Given the description of an element on the screen output the (x, y) to click on. 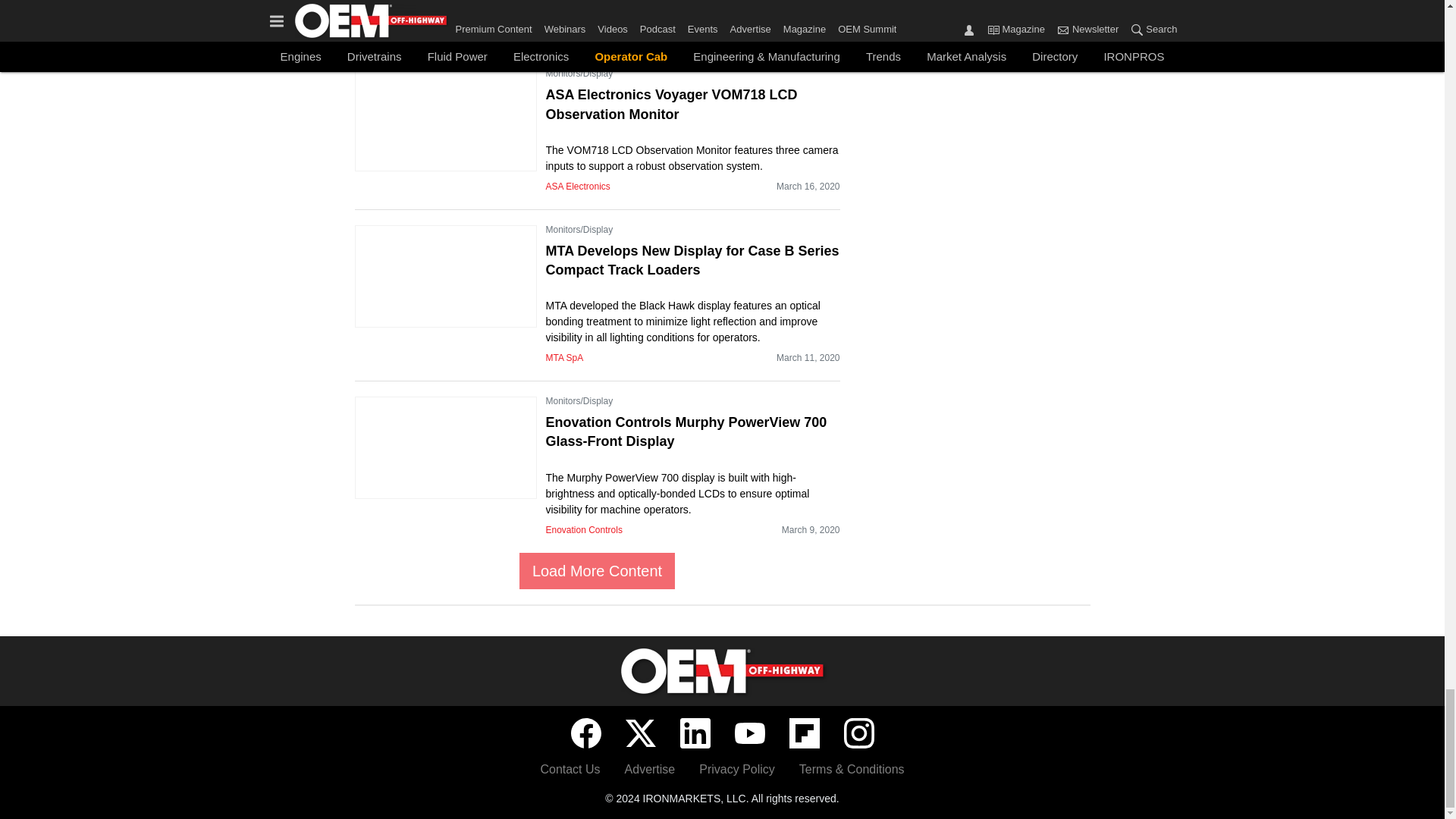
YouTube icon (748, 733)
Facebook icon (584, 733)
LinkedIn icon (694, 733)
Flipboard icon (803, 733)
Twitter X icon (639, 733)
